Given the description of an element on the screen output the (x, y) to click on. 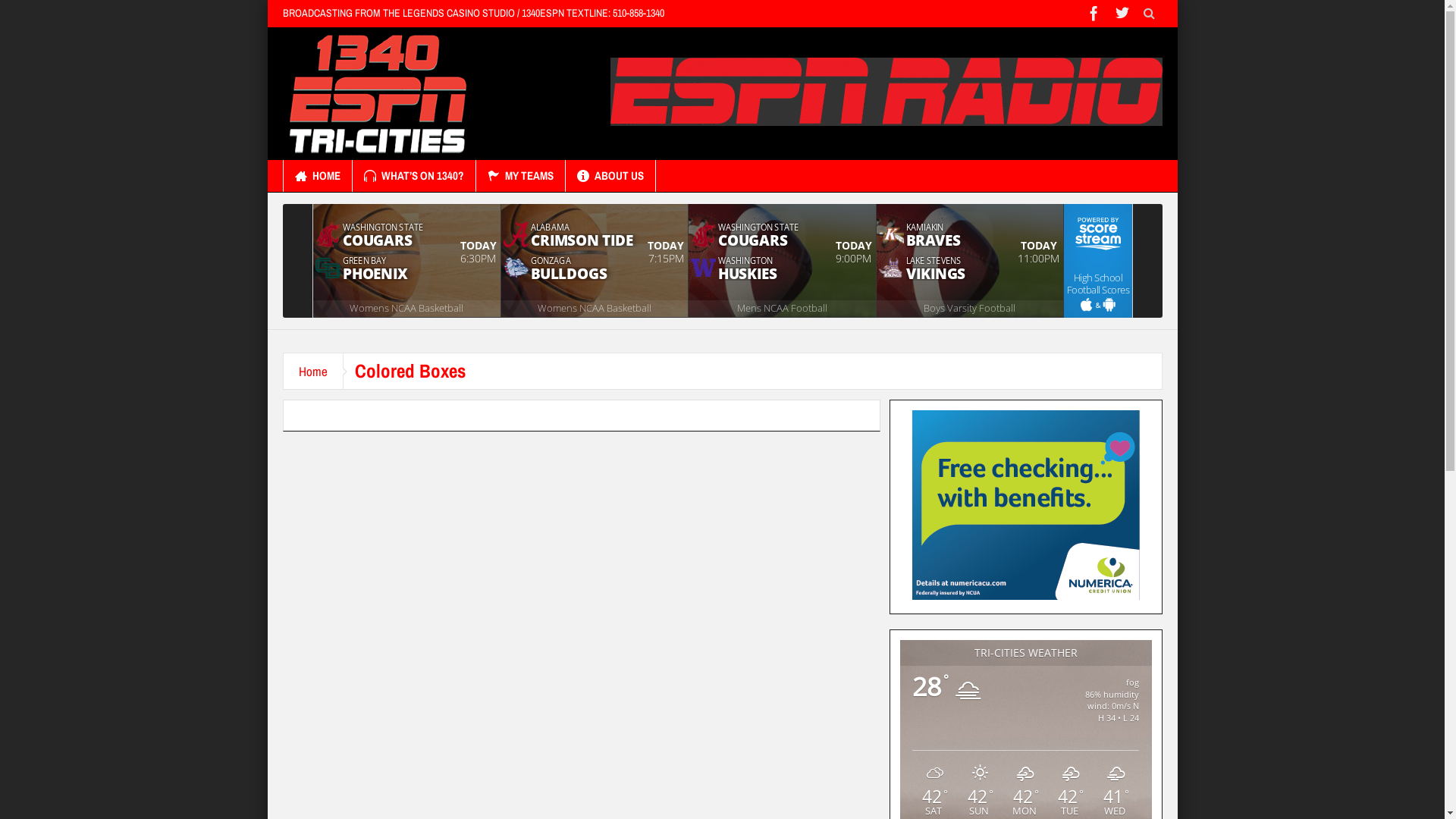
Home Element type: text (313, 371)
HOME Element type: text (317, 175)
1340ESPN Element type: hover (376, 93)
MY TEAMS Element type: text (520, 175)
Realtime sports scoreboard widget Element type: hover (721, 260)
ABOUT US Element type: text (610, 175)
